Given the description of an element on the screen output the (x, y) to click on. 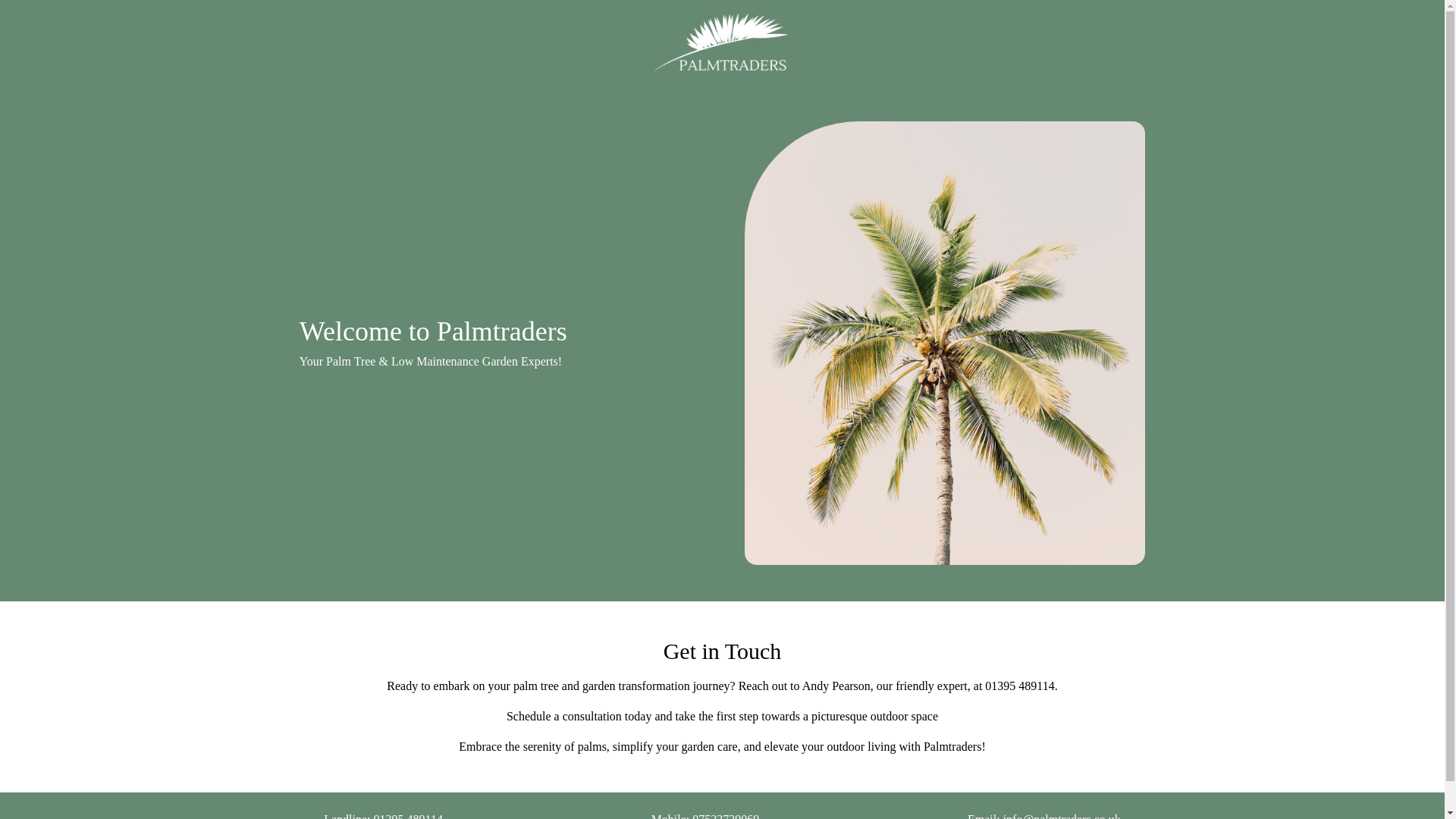
01395 489114 (1019, 685)
Mobile: 07523739069 (705, 814)
Landline: 01395 489114 (382, 814)
